Given the description of an element on the screen output the (x, y) to click on. 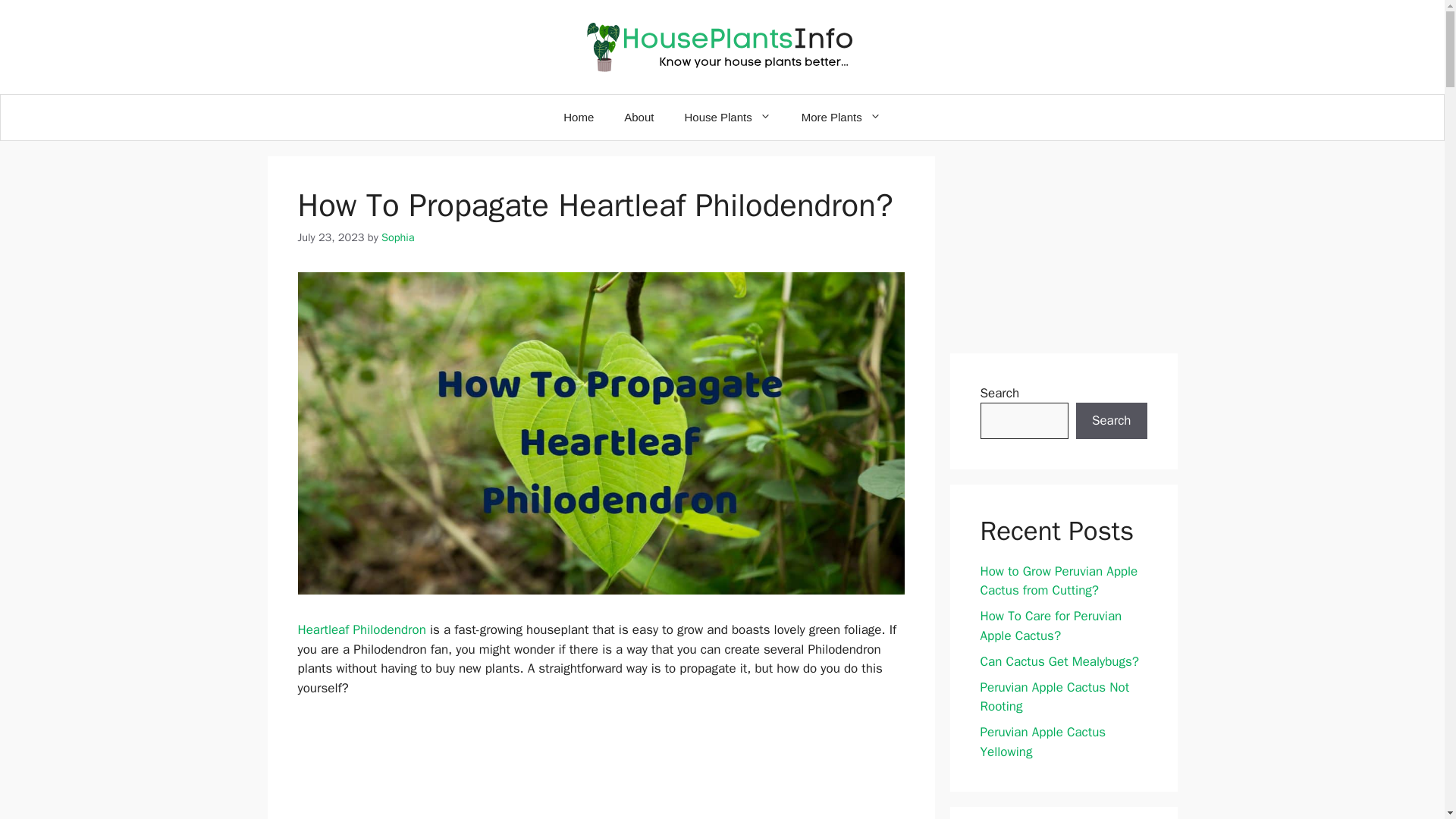
Sophia (397, 237)
Home (578, 117)
House Plants (727, 117)
About (638, 117)
Heartleaf Philodendron (361, 629)
More Plants (841, 117)
View all posts by Sophia (397, 237)
